Given the description of an element on the screen output the (x, y) to click on. 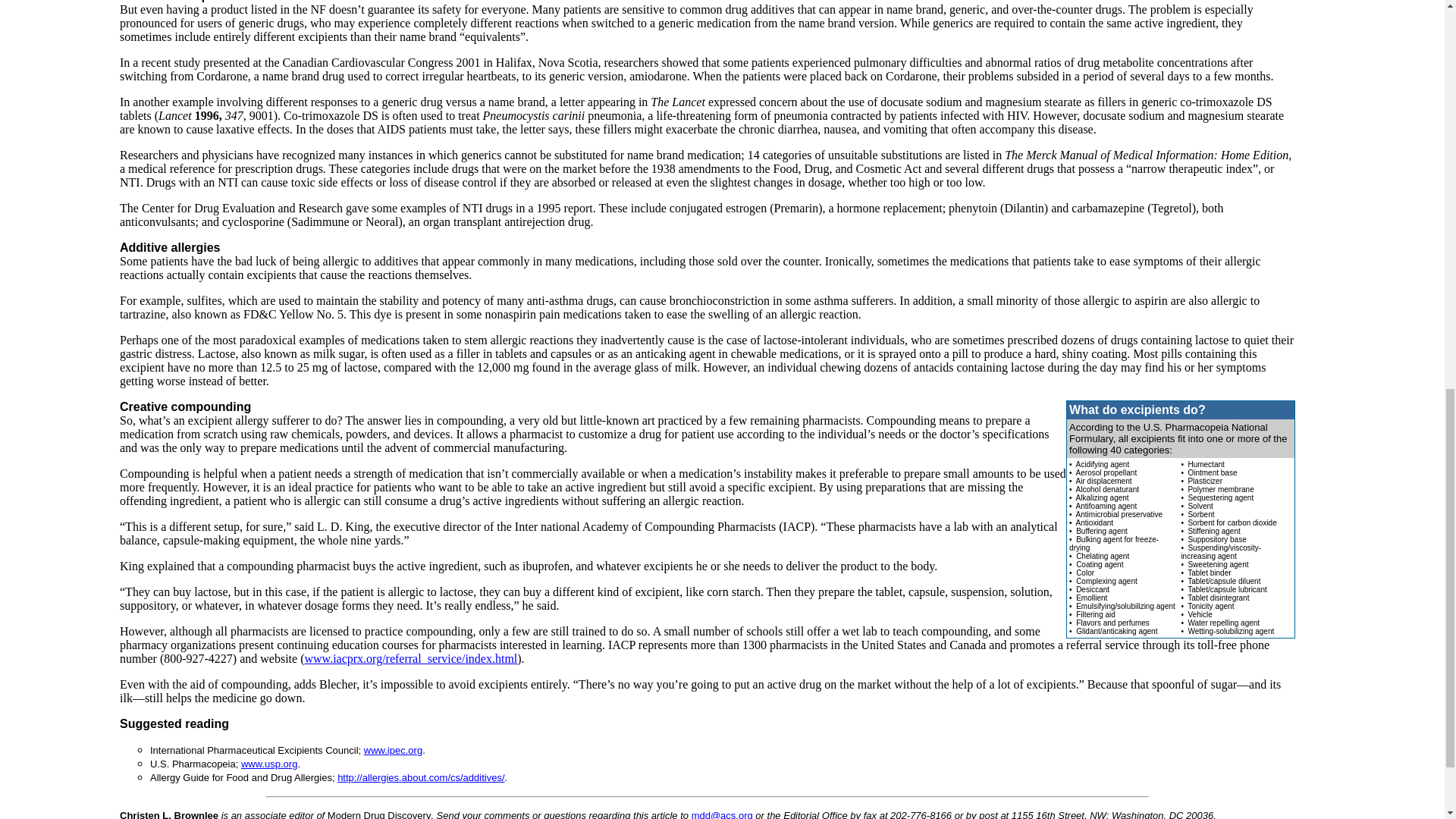
U.S. Pharmacopeia (269, 763)
Allergy Guide for Food and Drug Allergies (420, 777)
www.ipec.org (393, 749)
email MDD (721, 814)
www.usp.org (269, 763)
International Pharmaceutical Excipients Council (393, 749)
